Given the description of an element on the screen output the (x, y) to click on. 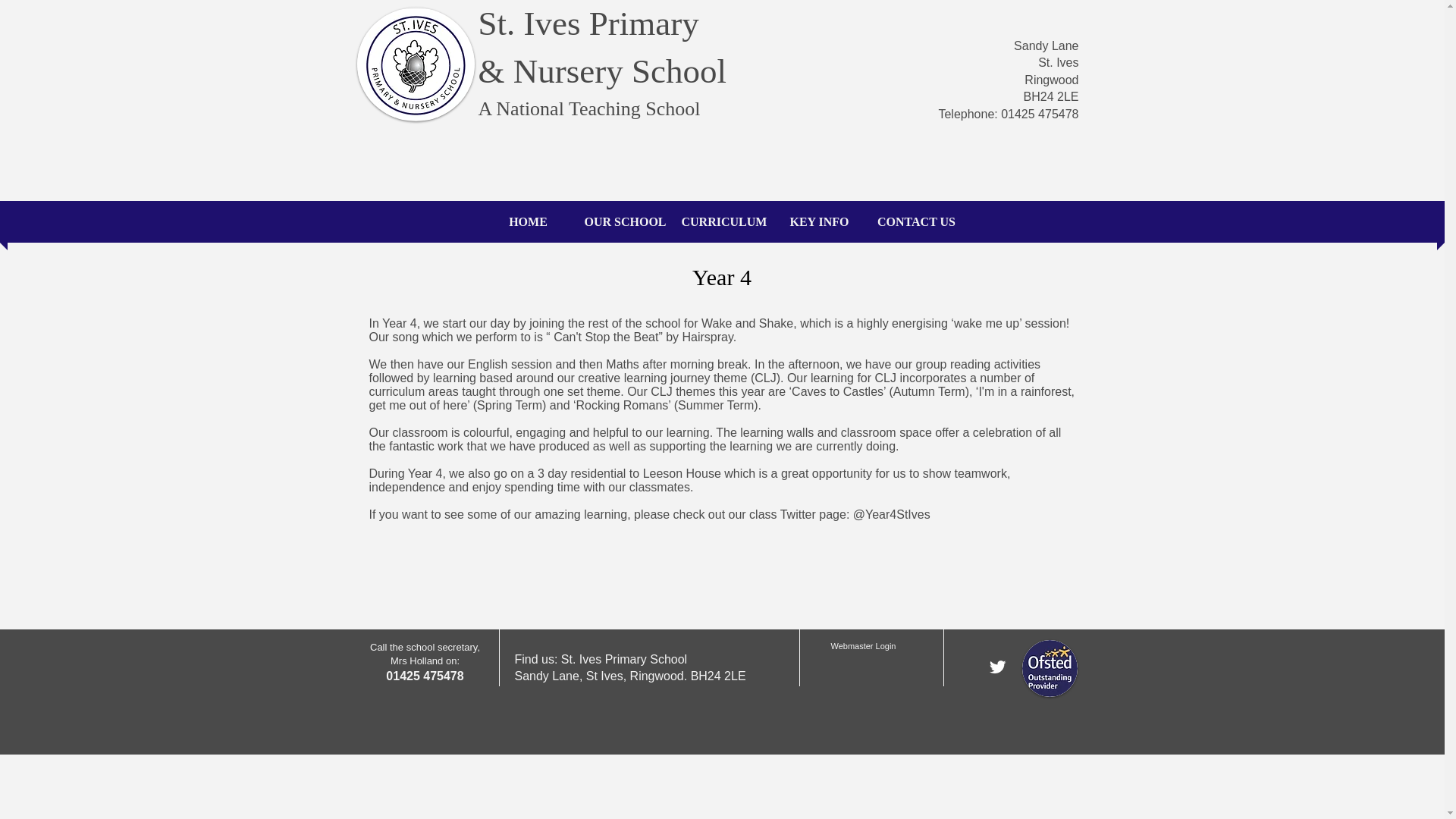
CURRICULUM (721, 221)
Webmaster Login (862, 645)
OUR SCHOOL (624, 221)
CONTACT US (915, 221)
KEY INFO (818, 221)
HOME (527, 221)
